Given the description of an element on the screen output the (x, y) to click on. 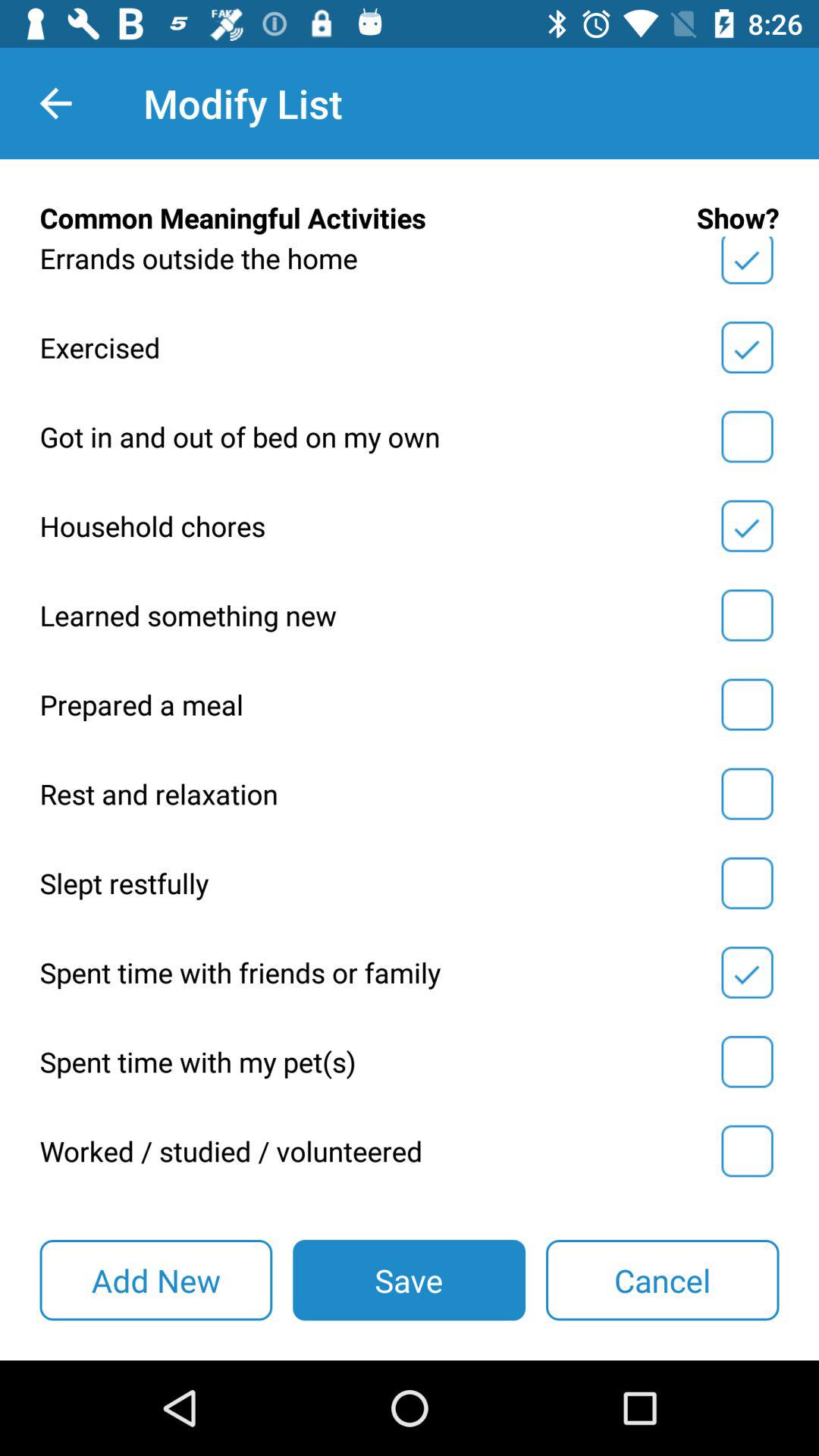
toggle show option (747, 263)
